Given the description of an element on the screen output the (x, y) to click on. 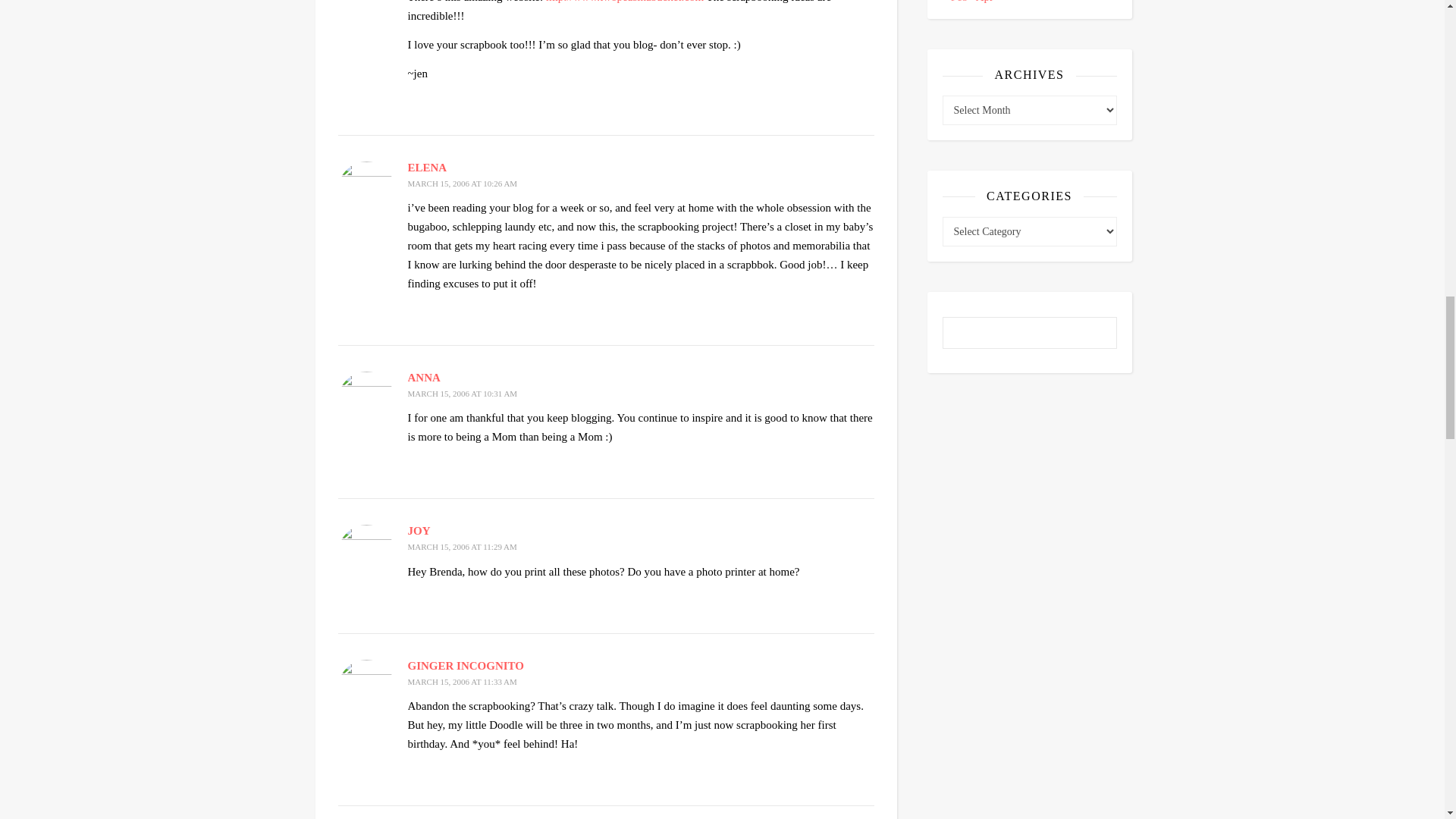
MARCH 15, 2006 AT 11:29 AM (461, 546)
JOY (418, 530)
ELENA (426, 167)
MARCH 15, 2006 AT 11:33 AM (461, 681)
MARCH 15, 2006 AT 10:26 AM (462, 183)
GINGER INCOGNITO (465, 665)
ANNA (424, 377)
MARCH 15, 2006 AT 10:31 AM (462, 393)
